Given the description of an element on the screen output the (x, y) to click on. 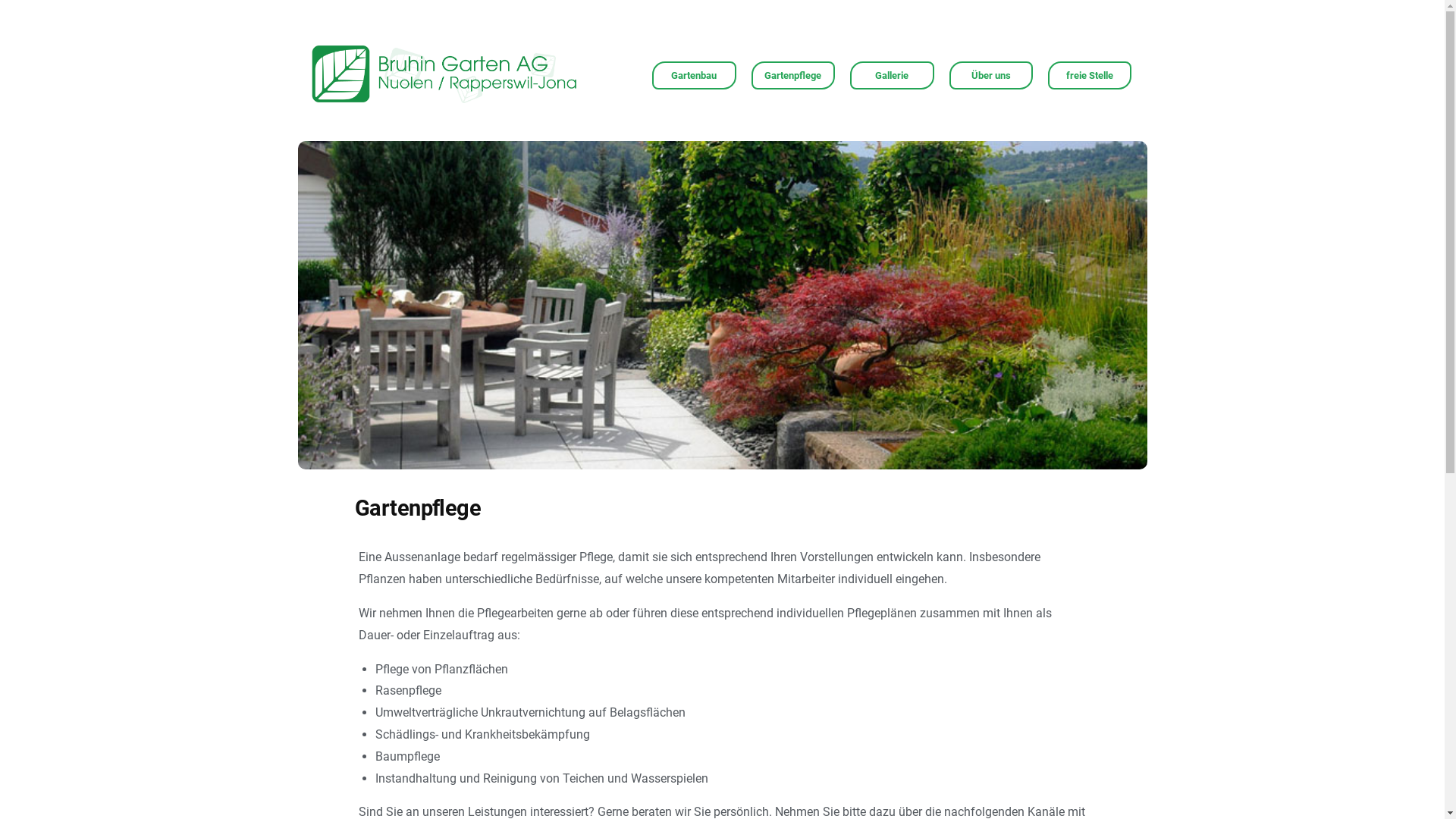
freie Stelle Element type: text (1089, 75)
Gartenbau Element type: text (693, 75)
Gartenpflege Element type: text (792, 75)
Gallerie Element type: text (891, 75)
